Given the description of an element on the screen output the (x, y) to click on. 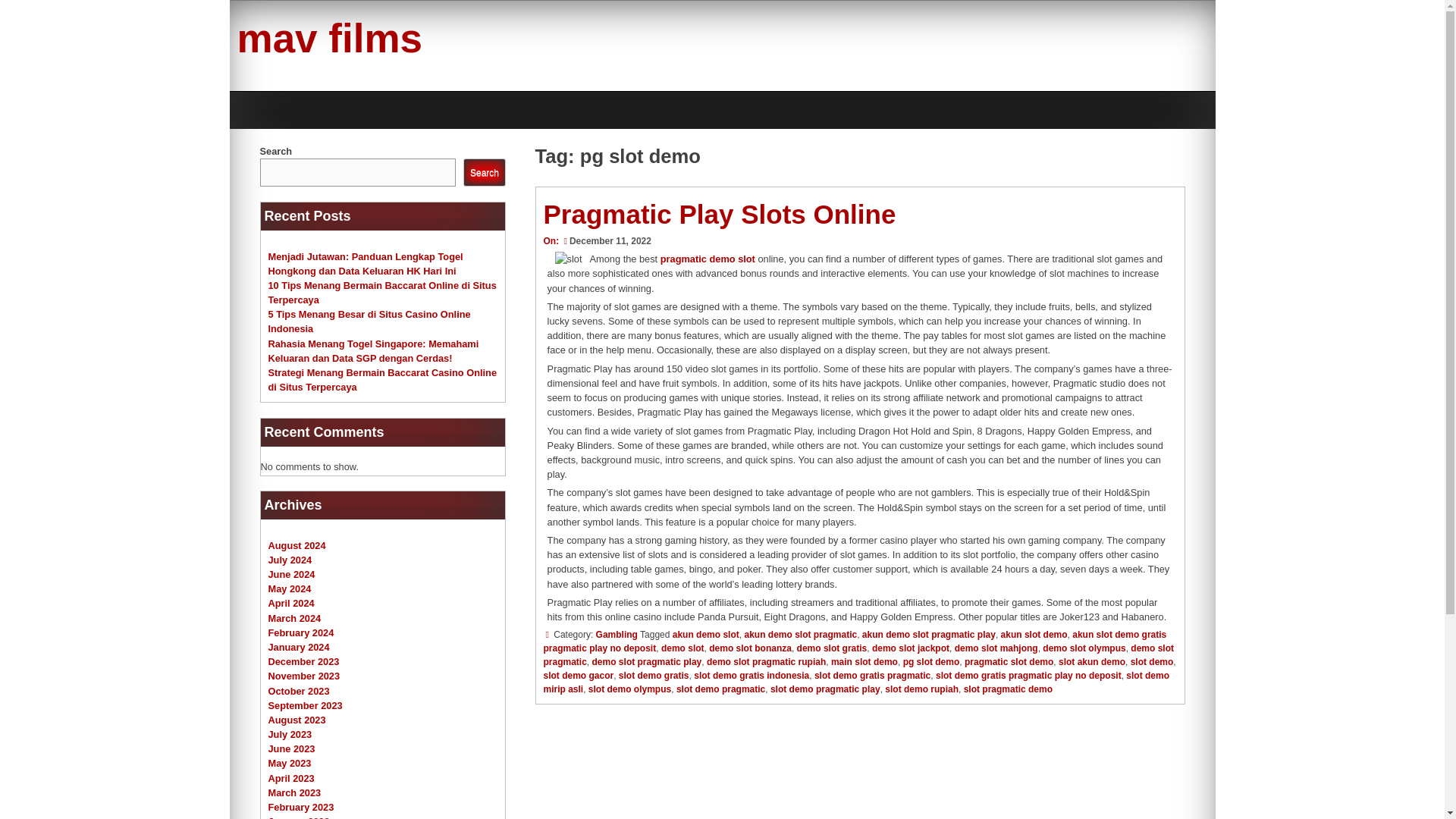
akun demo slot (705, 634)
akun demo slot pragmatic play (928, 634)
akun slot demo gratis pragmatic play no deposit (854, 641)
slot demo gratis pragmatic (871, 675)
akun demo slot pragmatic (800, 634)
slot demo pragmatic (721, 688)
slot demo gratis pragmatic play no deposit (1028, 675)
Gambling (616, 634)
slot demo rupiah (921, 688)
mav films (328, 37)
demo slot pragmatic rupiah (765, 661)
pragmatic slot demo (1007, 661)
akun slot demo (1034, 634)
slot akun demo (1091, 661)
slot demo (1152, 661)
